Given the description of an element on the screen output the (x, y) to click on. 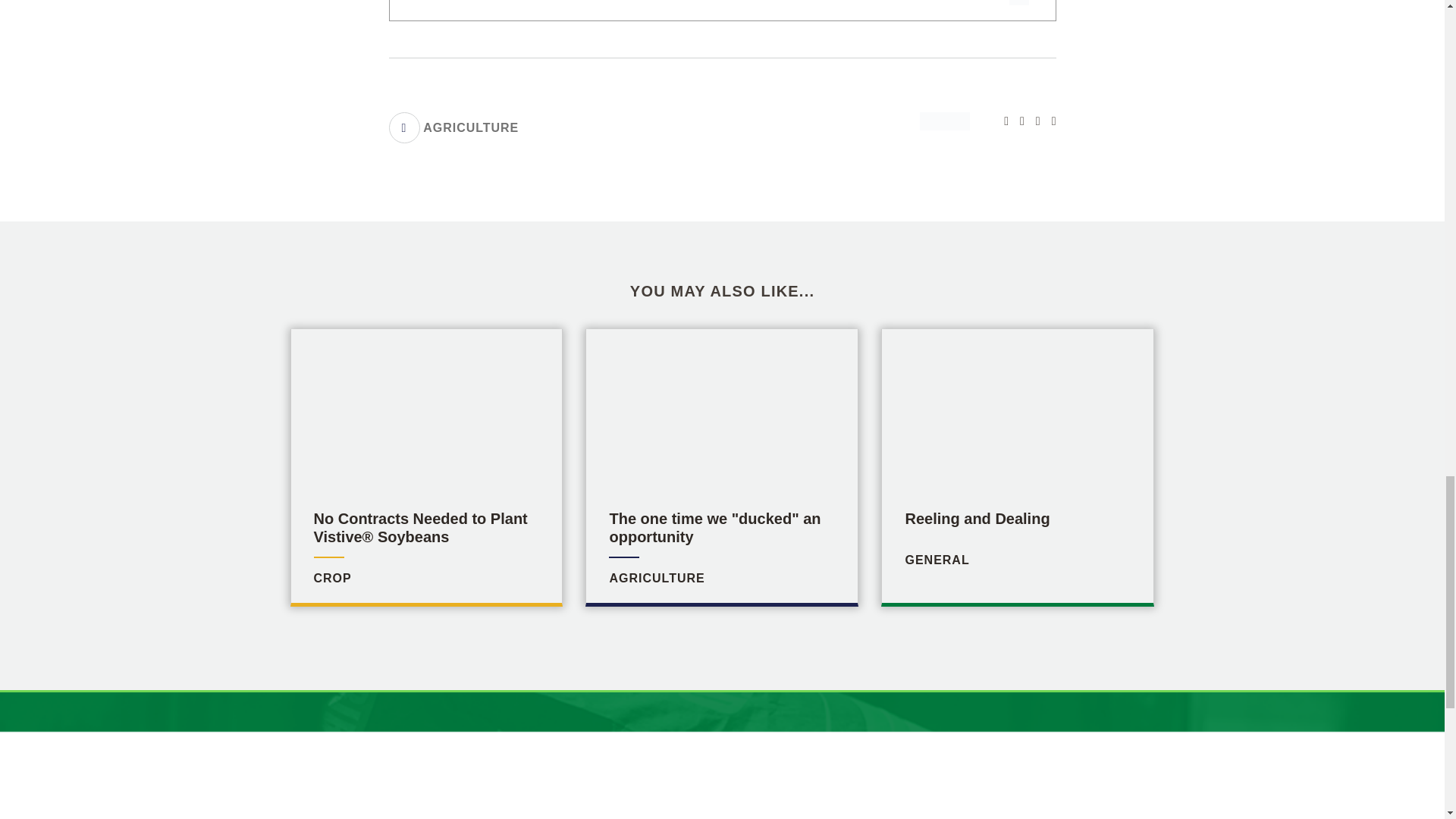
RSS Feed (976, 540)
AGRICULTURE (721, 540)
Print Recipe (1049, 121)
SCHEDULE A CONSULTATION (453, 127)
